Given the description of an element on the screen output the (x, y) to click on. 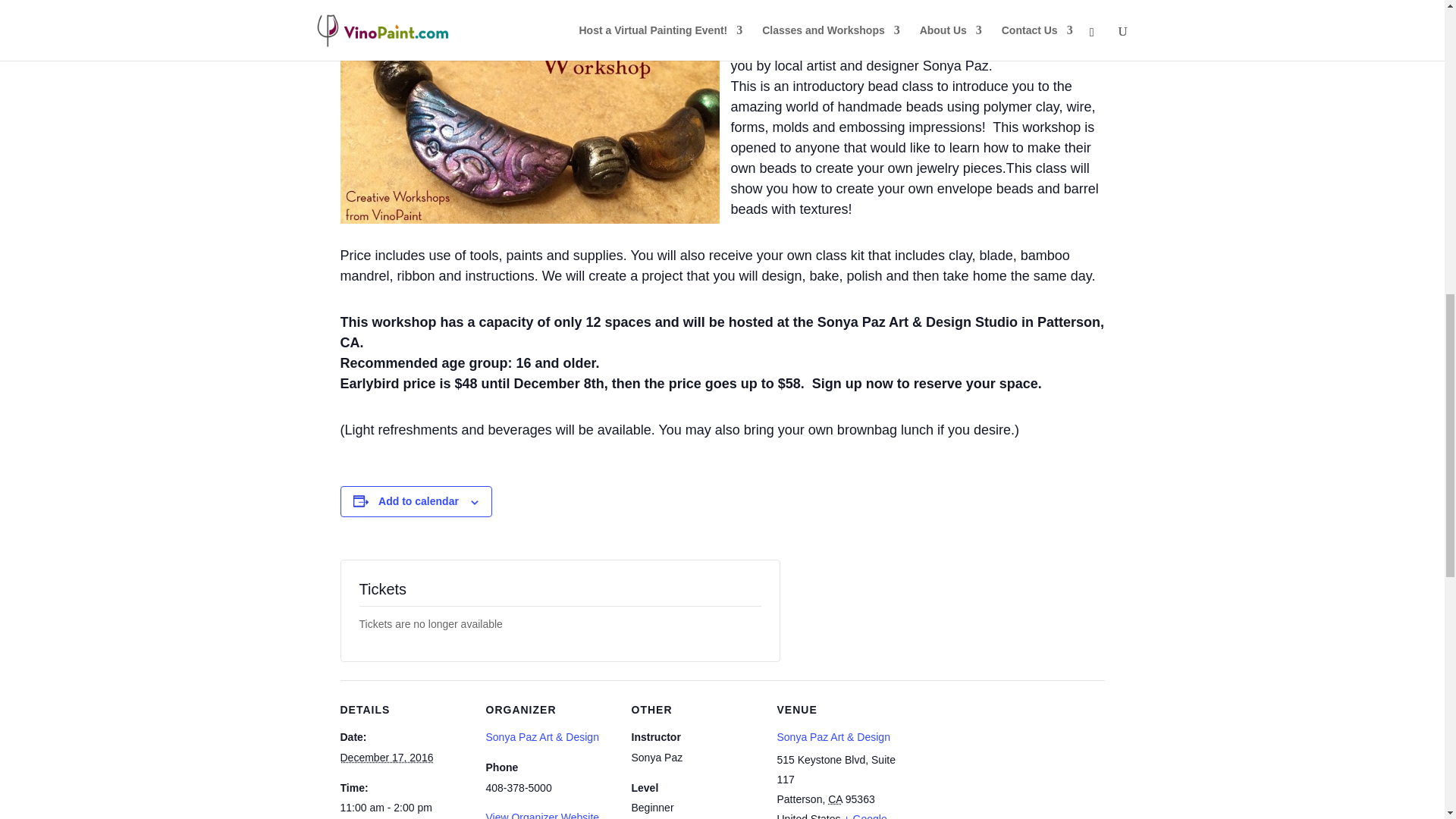
California (835, 799)
2016-12-17 (403, 808)
2016-12-17 (385, 757)
Click to view a Google Map (831, 816)
